Given the description of an element on the screen output the (x, y) to click on. 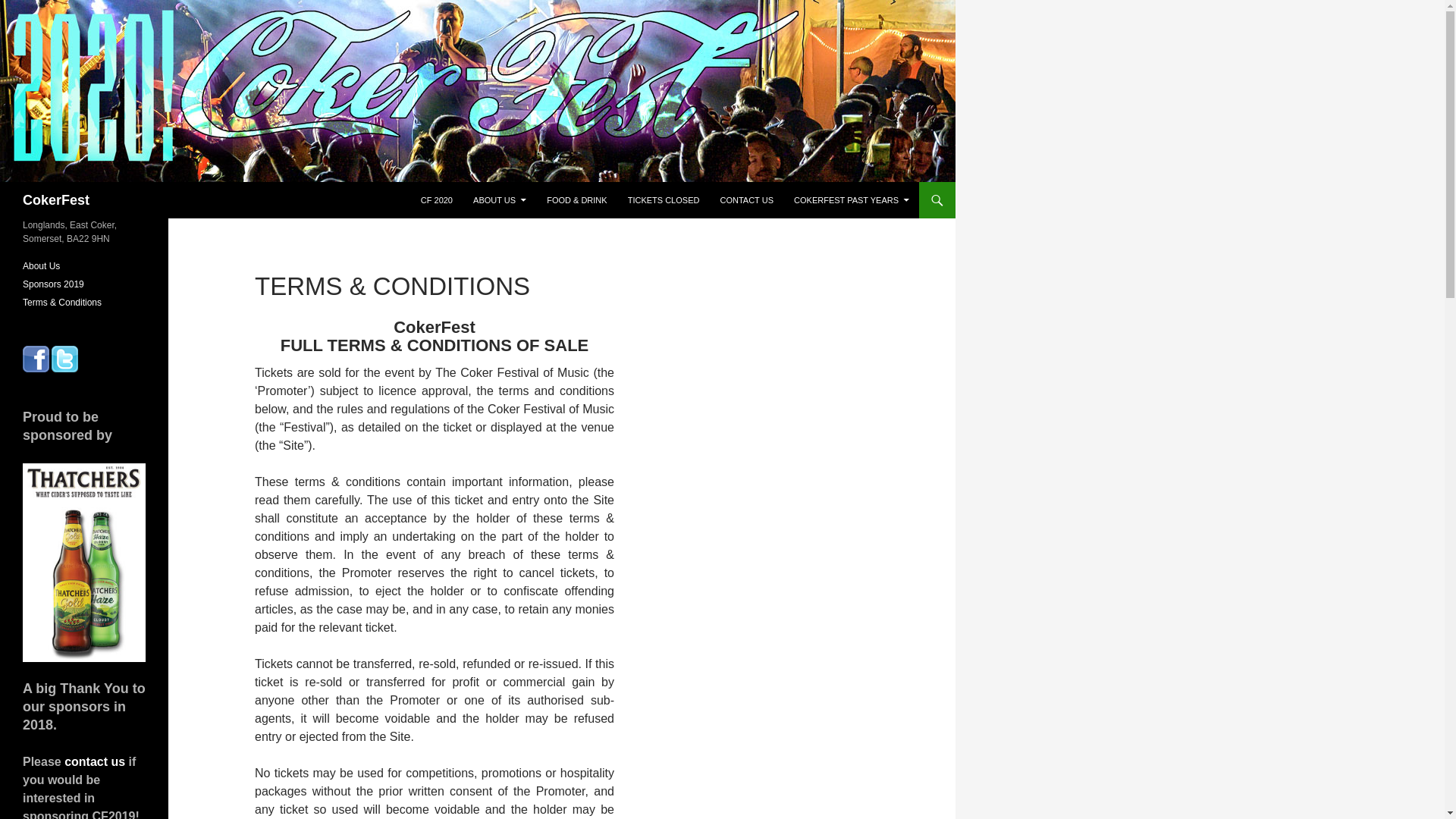
Sponsors 2019 (53, 284)
COKERFEST PAST YEARS (851, 199)
CF 2020 (436, 199)
ABOUT US (499, 199)
About Us (41, 266)
CONTACT US (746, 199)
CokerFest (55, 199)
TICKETS CLOSED (663, 199)
contact us (94, 761)
